Given the description of an element on the screen output the (x, y) to click on. 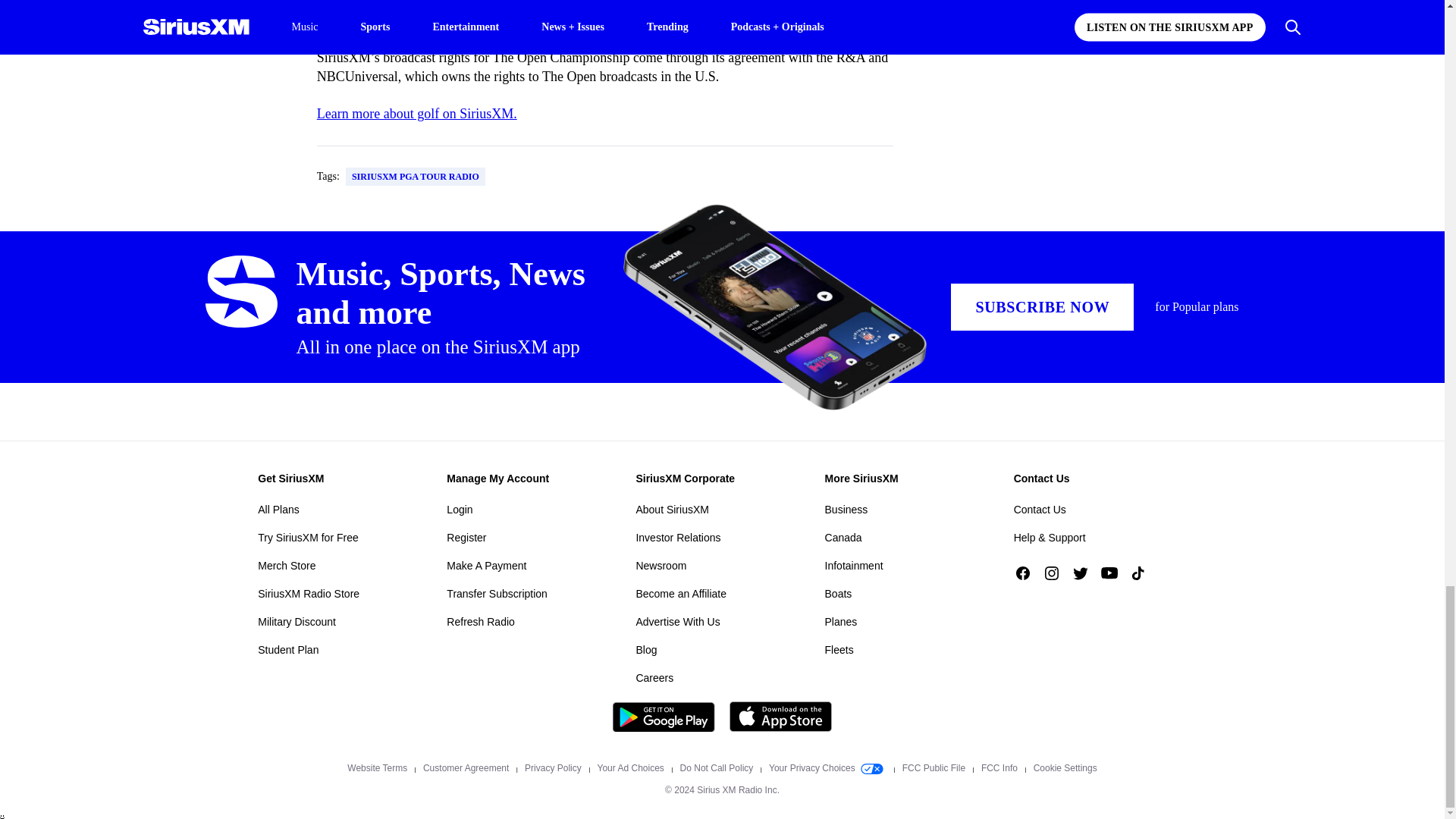
Try SiriusXM for Free (307, 537)
All Plans (277, 509)
SIRIUSXM PGA TOUR RADIO (415, 176)
on the SXM App (522, 4)
Learn more about golf on SiriusXM. (416, 113)
SUBSCRIBE NOW (1042, 306)
